Given the description of an element on the screen output the (x, y) to click on. 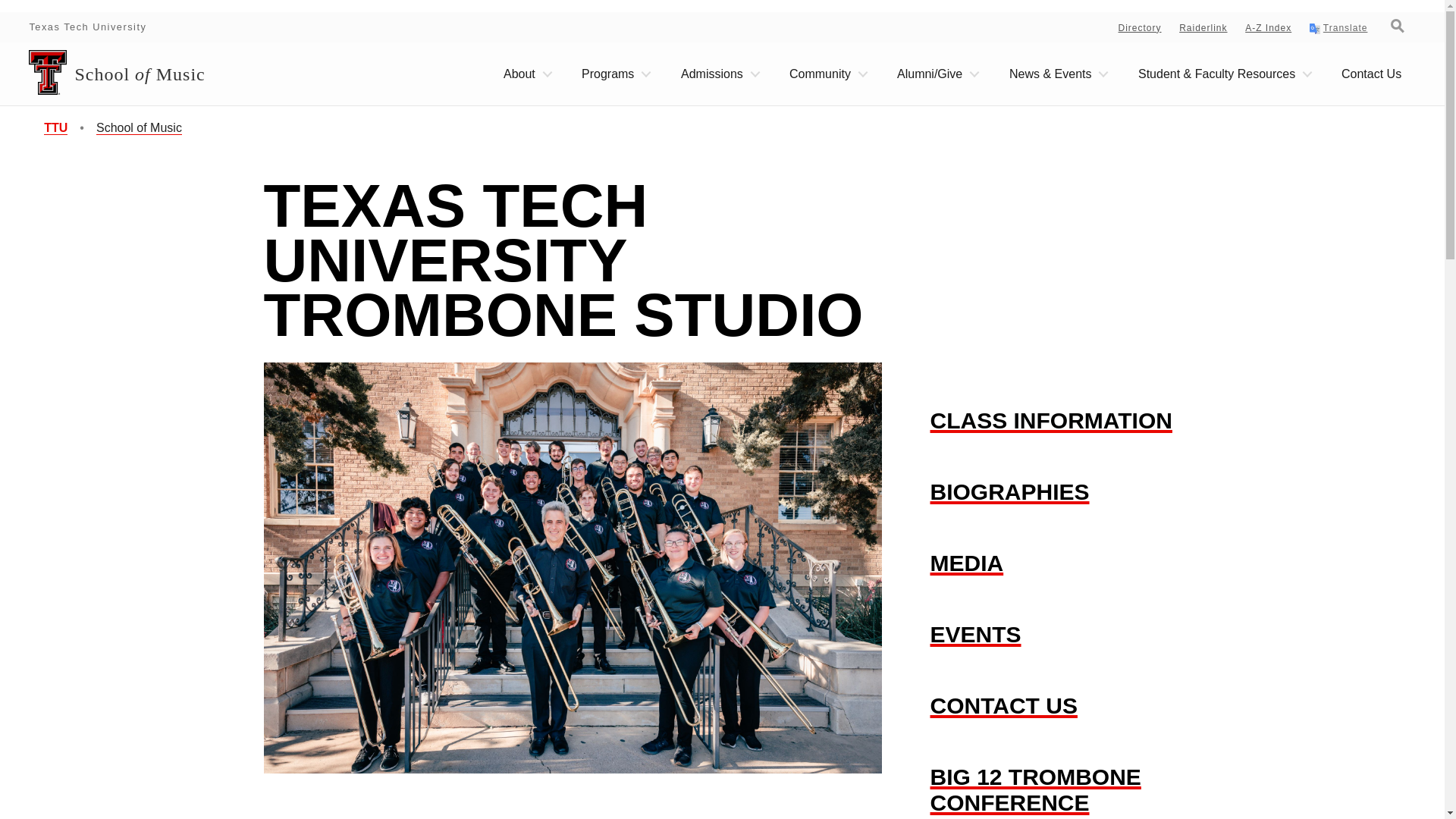
About (526, 74)
Programs (614, 74)
A-Z Index (1267, 27)
Translate (1338, 28)
Raiderlink (1203, 27)
Directory (1139, 27)
Texas Tech University (88, 26)
